Given the description of an element on the screen output the (x, y) to click on. 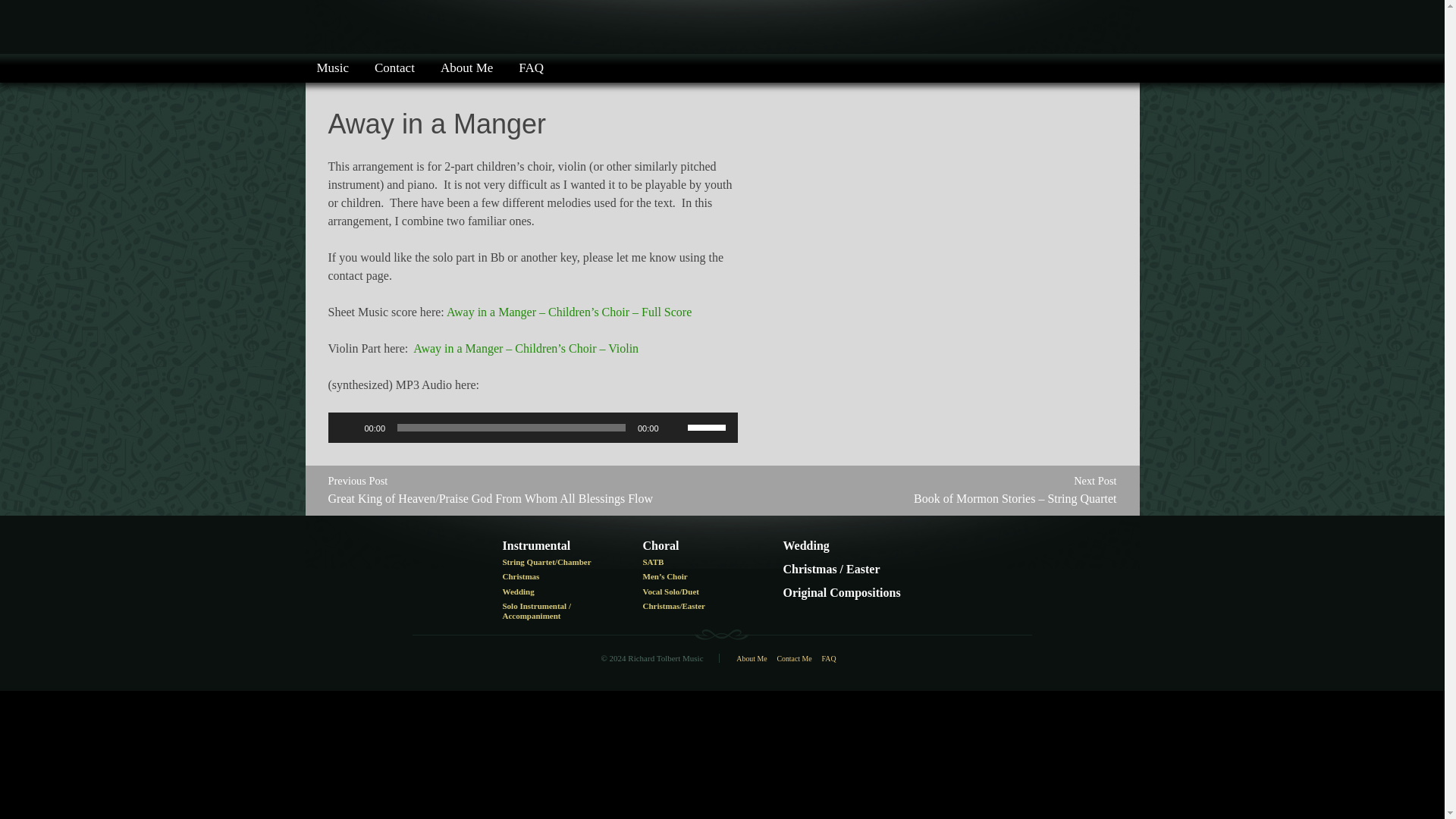
Instrumental (556, 547)
Christmas (556, 578)
Search (16, 63)
Skip to content (37, 63)
Mute (674, 427)
Play (347, 427)
About Me (466, 68)
Wedding (556, 594)
Choral (697, 547)
Music (331, 68)
SATB (697, 564)
Contact (394, 68)
FAQ (530, 68)
Tolbert Music (386, 27)
